Given the description of an element on the screen output the (x, y) to click on. 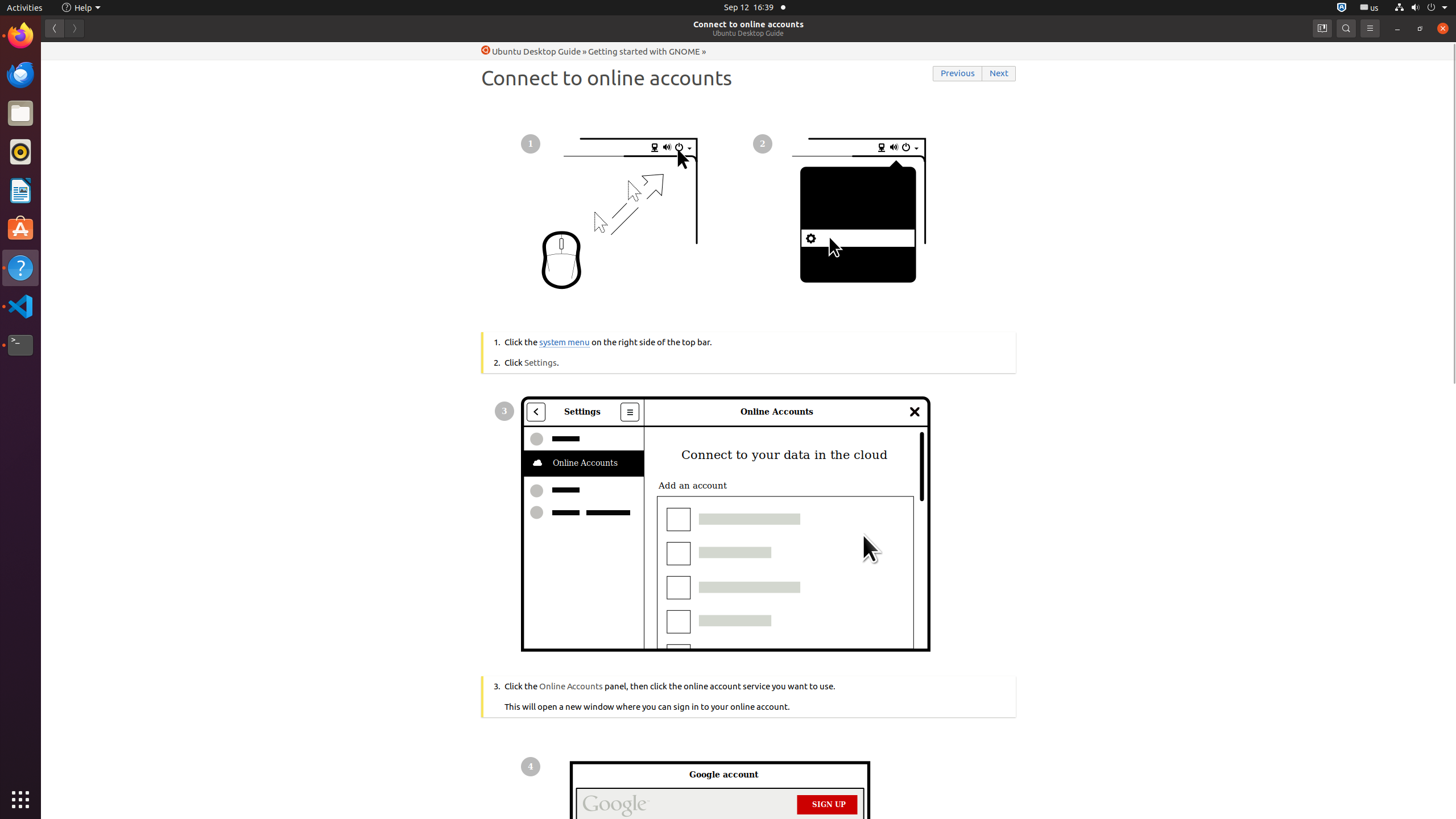
Restore Element type: push-button (1419, 27)
Activities Element type: label (24, 7)
This will open a new window where you can sign in to your online account. Element type: list-item (755, 696)
